Given the description of an element on the screen output the (x, y) to click on. 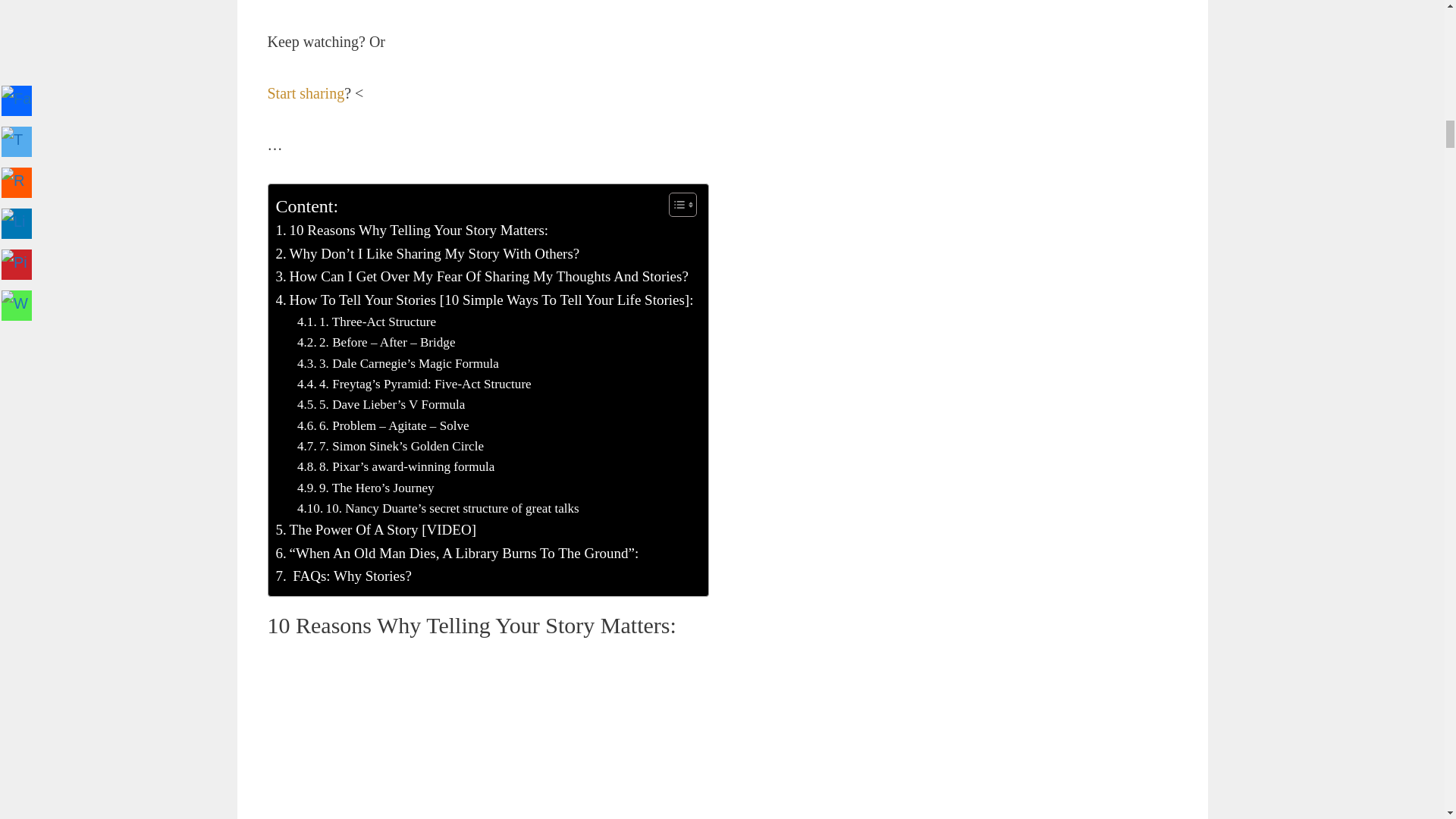
10 Reasons Why Telling Your Story Matters: (412, 230)
 FAQs: Why Stories? (344, 576)
1. Three-Act Structure (366, 322)
Start sharing (304, 93)
10 Reasons Why Telling Your Story Matters: (412, 230)
